Given the description of an element on the screen output the (x, y) to click on. 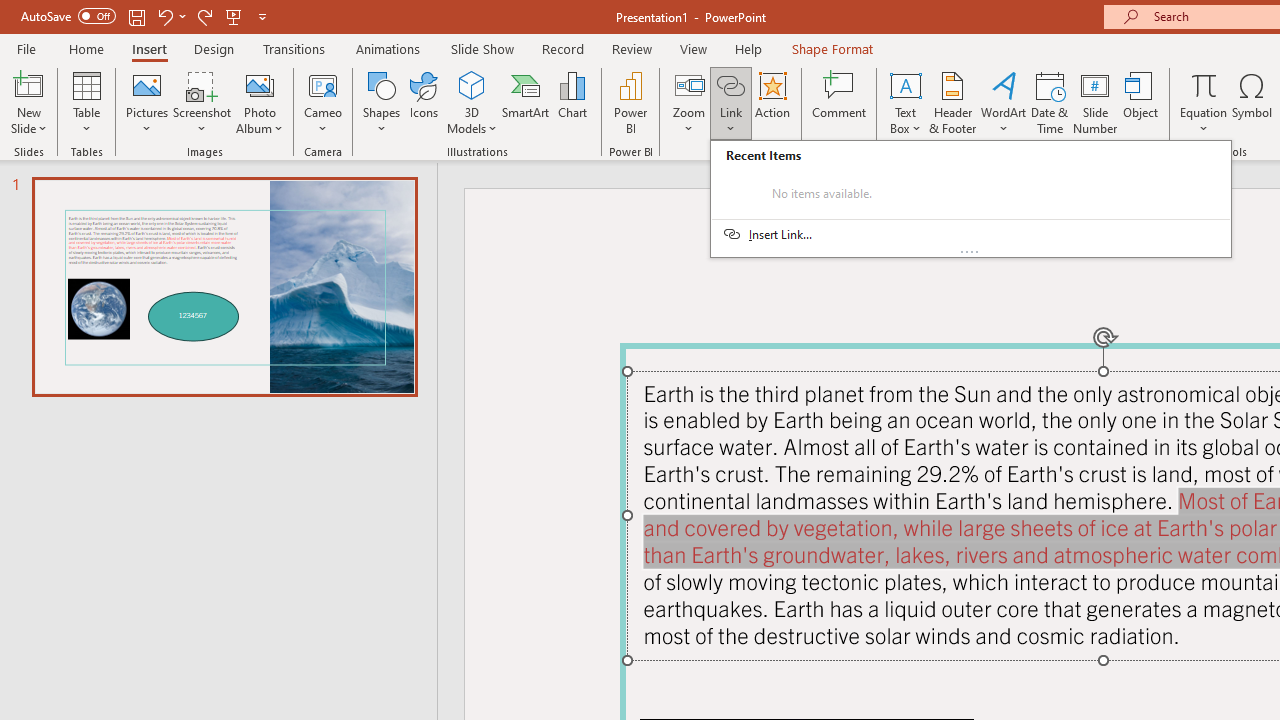
3D Models (472, 102)
Link (731, 102)
Date & Time... (1050, 102)
New Photo Album... (259, 84)
